Given the description of an element on the screen output the (x, y) to click on. 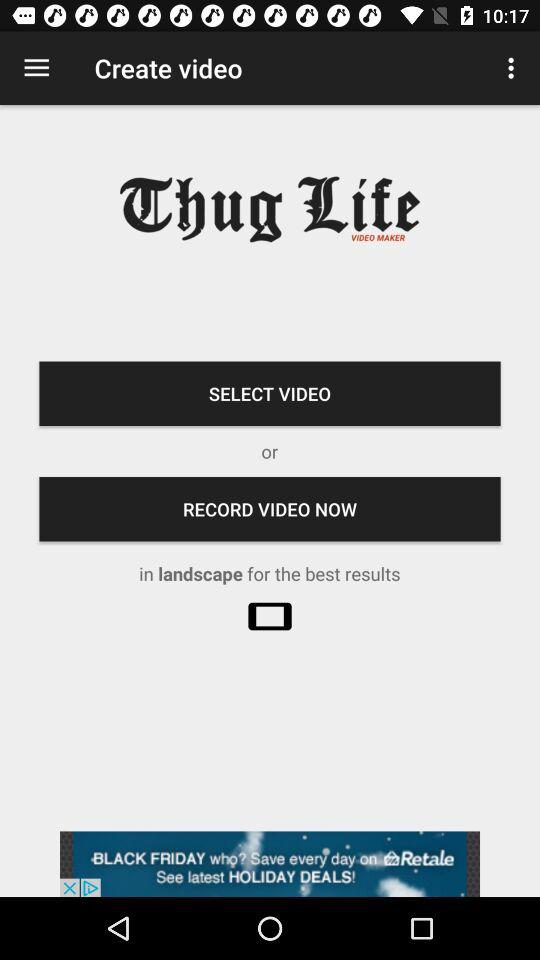
advertisement page (270, 864)
